Given the description of an element on the screen output the (x, y) to click on. 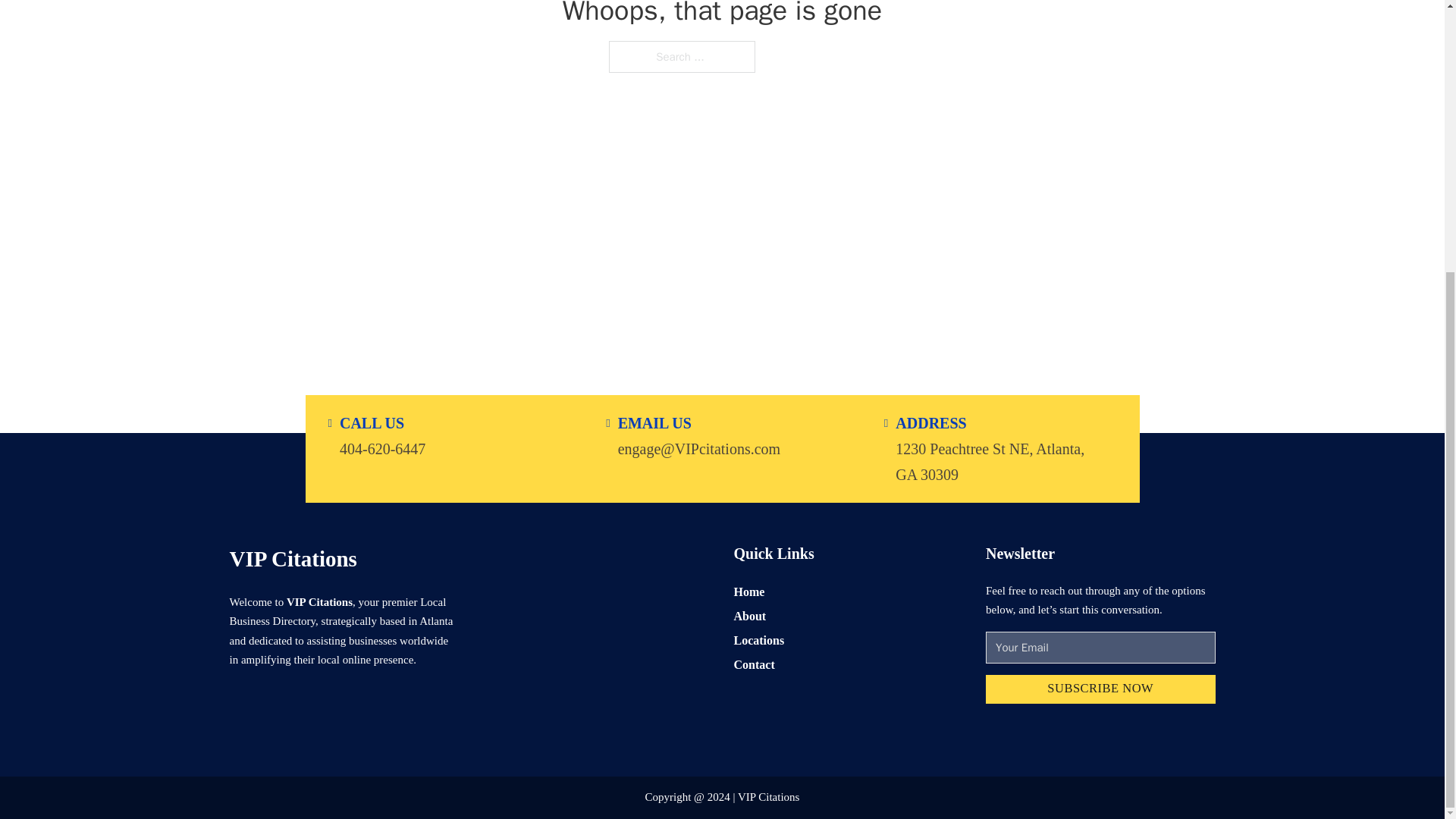
SUBSCRIBE NOW (1100, 689)
Locations (758, 639)
Home (749, 590)
About (750, 616)
VIP Citations (292, 558)
Contact (753, 664)
404-620-6447 (382, 447)
